Given the description of an element on the screen output the (x, y) to click on. 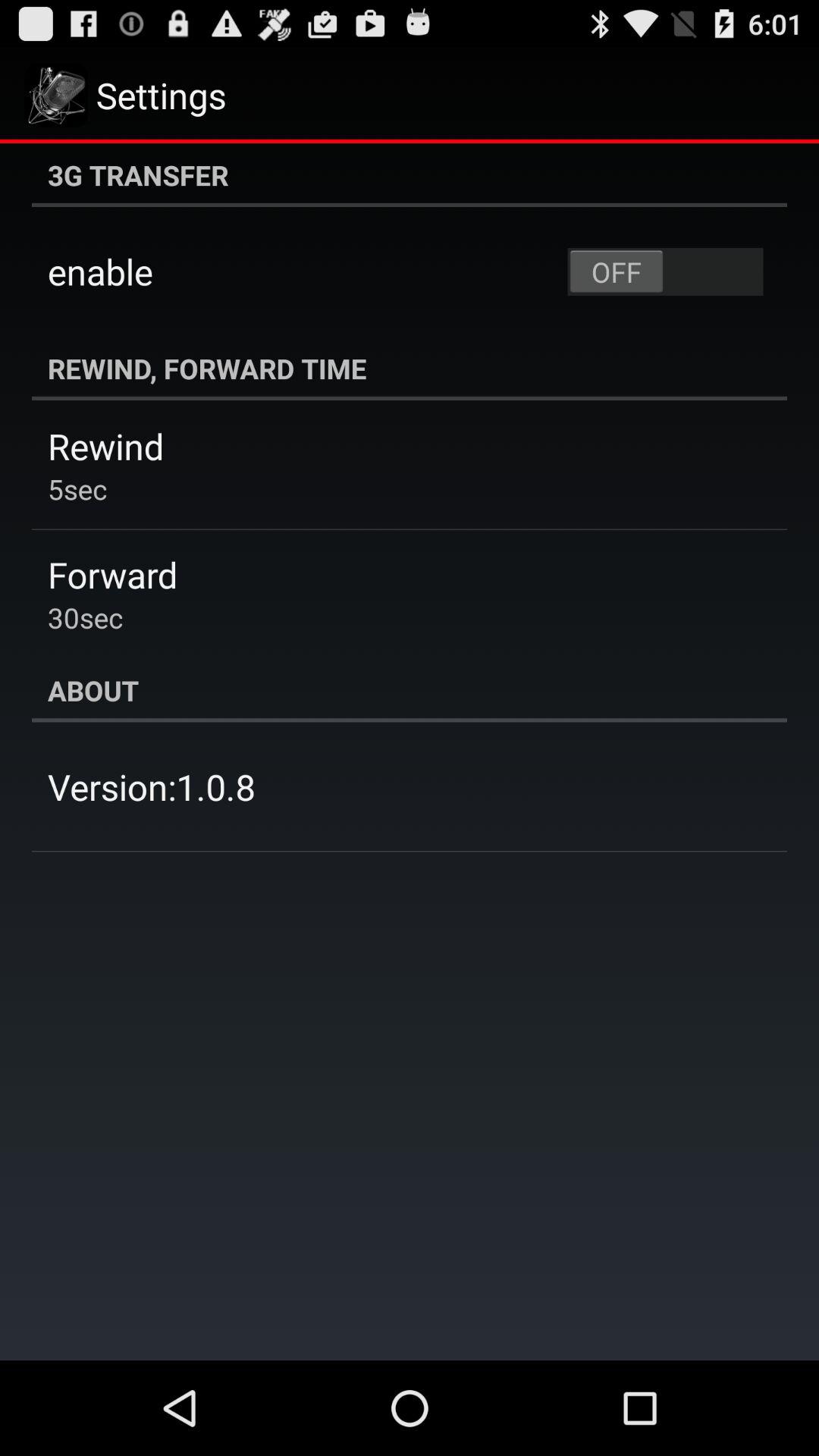
scroll until the enable item (99, 271)
